Given the description of an element on the screen output the (x, y) to click on. 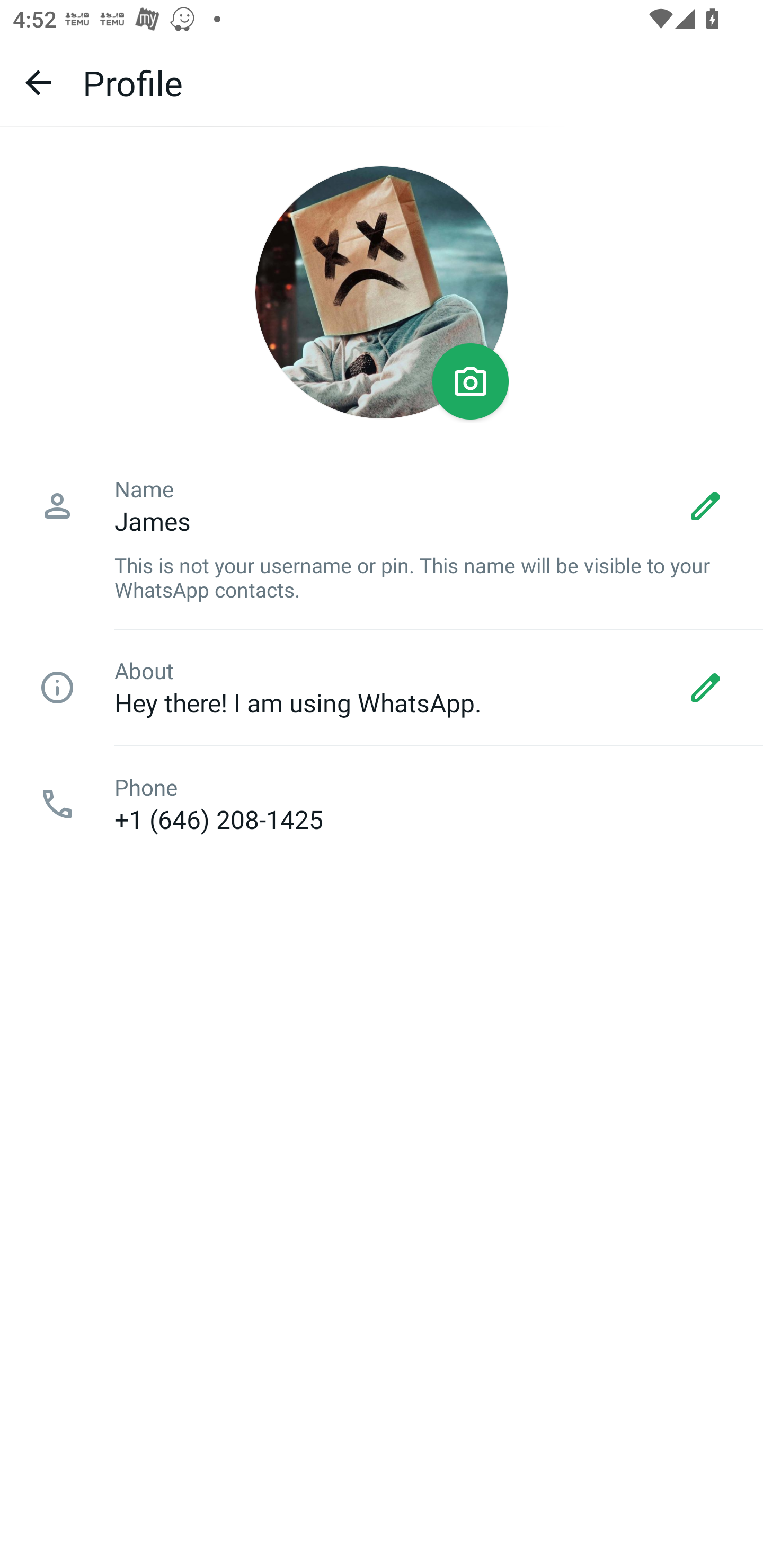
Navigate up (38, 82)
Profile photo (381, 292)
Edit photo (470, 381)
About Hey there! I am using WhatsApp. (381, 687)
Phone +1 (646) 208-1425 (381, 804)
